Given the description of an element on the screen output the (x, y) to click on. 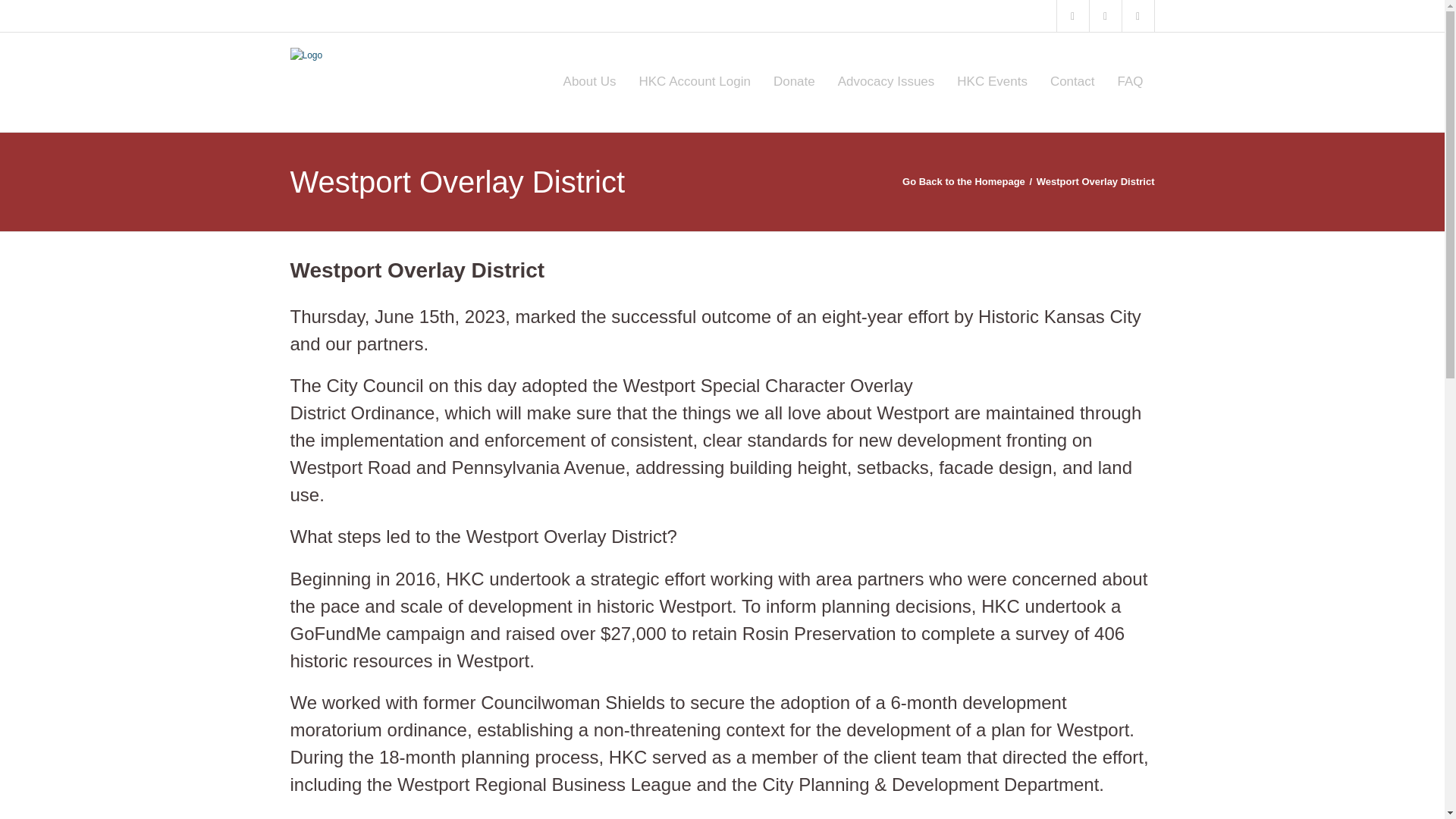
FAQ (1129, 81)
HKC Events (991, 81)
Donate (794, 81)
HKC Account Login (694, 81)
Advocacy Issues (886, 81)
Contact (1072, 81)
About Us (589, 81)
